Given the description of an element on the screen output the (x, y) to click on. 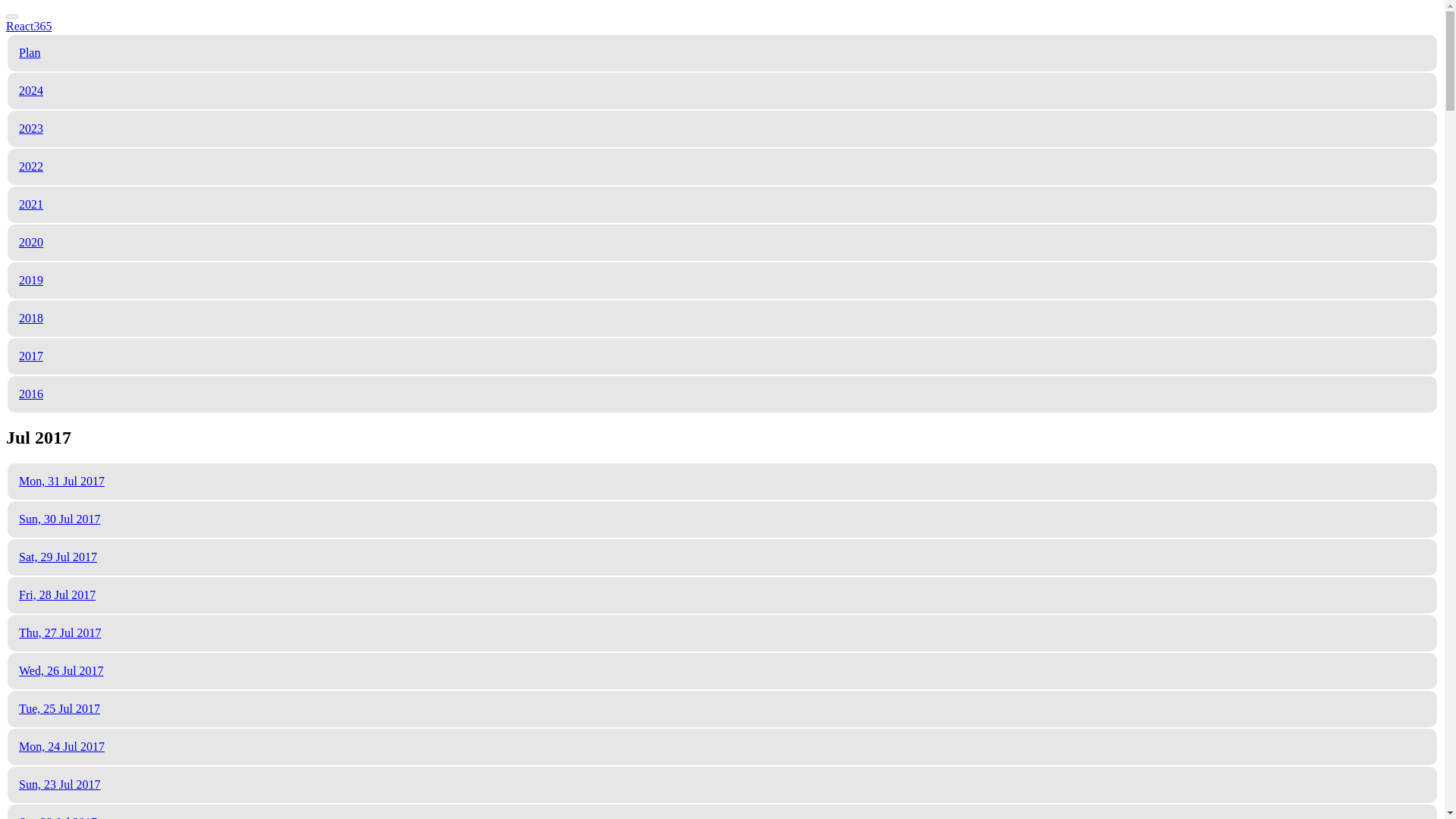
Sun, 30 Jul 2017 (59, 518)
2020 (30, 241)
Sat, 29 Jul 2017 (57, 556)
2018 (30, 318)
Mon, 24 Jul 2017 (61, 746)
2023 (30, 128)
Sun, 23 Jul 2017 (59, 784)
2016 (30, 393)
Sat, 22 Jul 2017 (57, 817)
2024 (30, 90)
2016 (30, 393)
Plan (29, 51)
2018 (30, 318)
2020 (30, 241)
Sat, 29 Jul 2017 (57, 556)
